Given the description of an element on the screen output the (x, y) to click on. 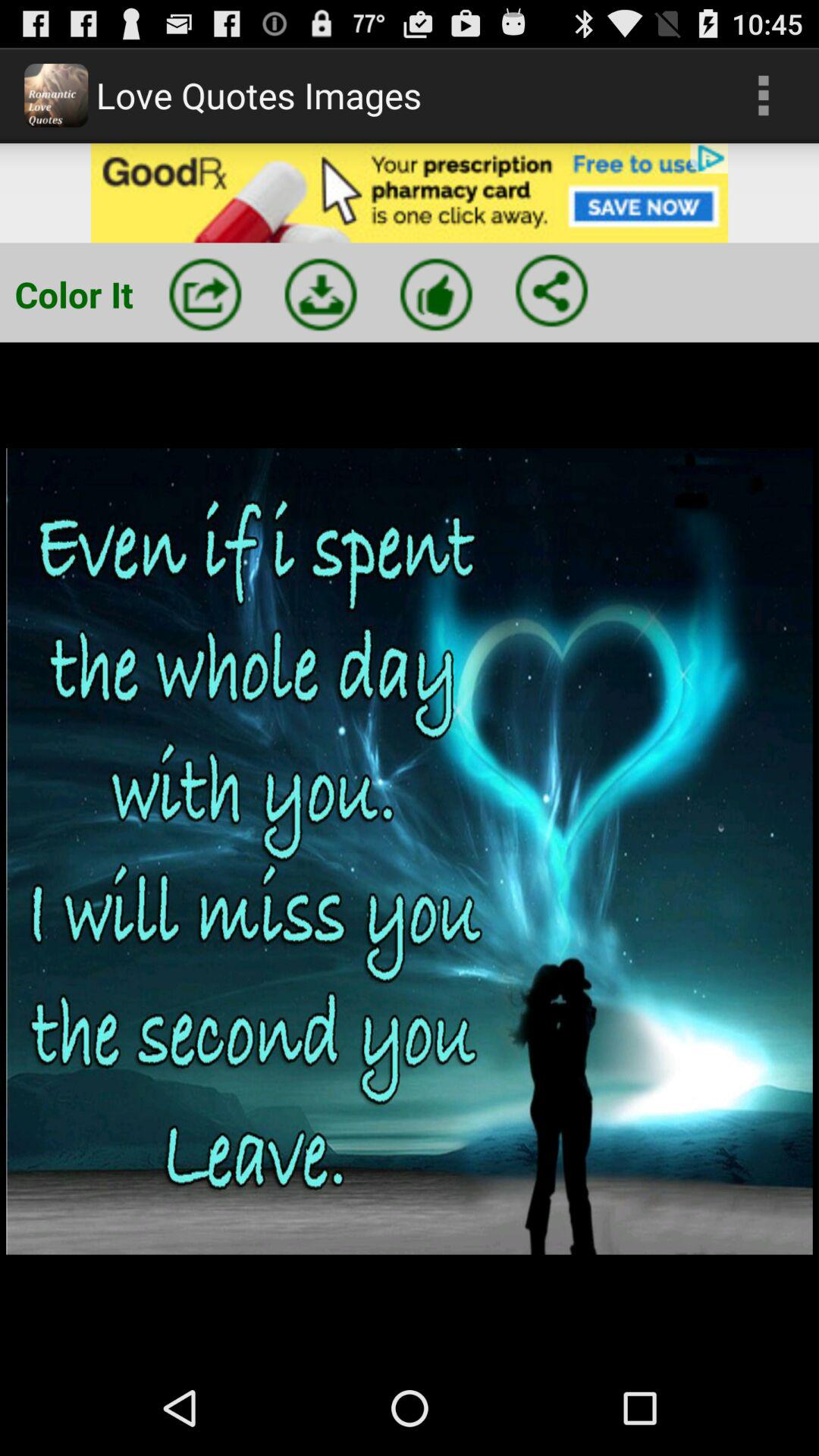
open in new page (205, 294)
